Given the description of an element on the screen output the (x, y) to click on. 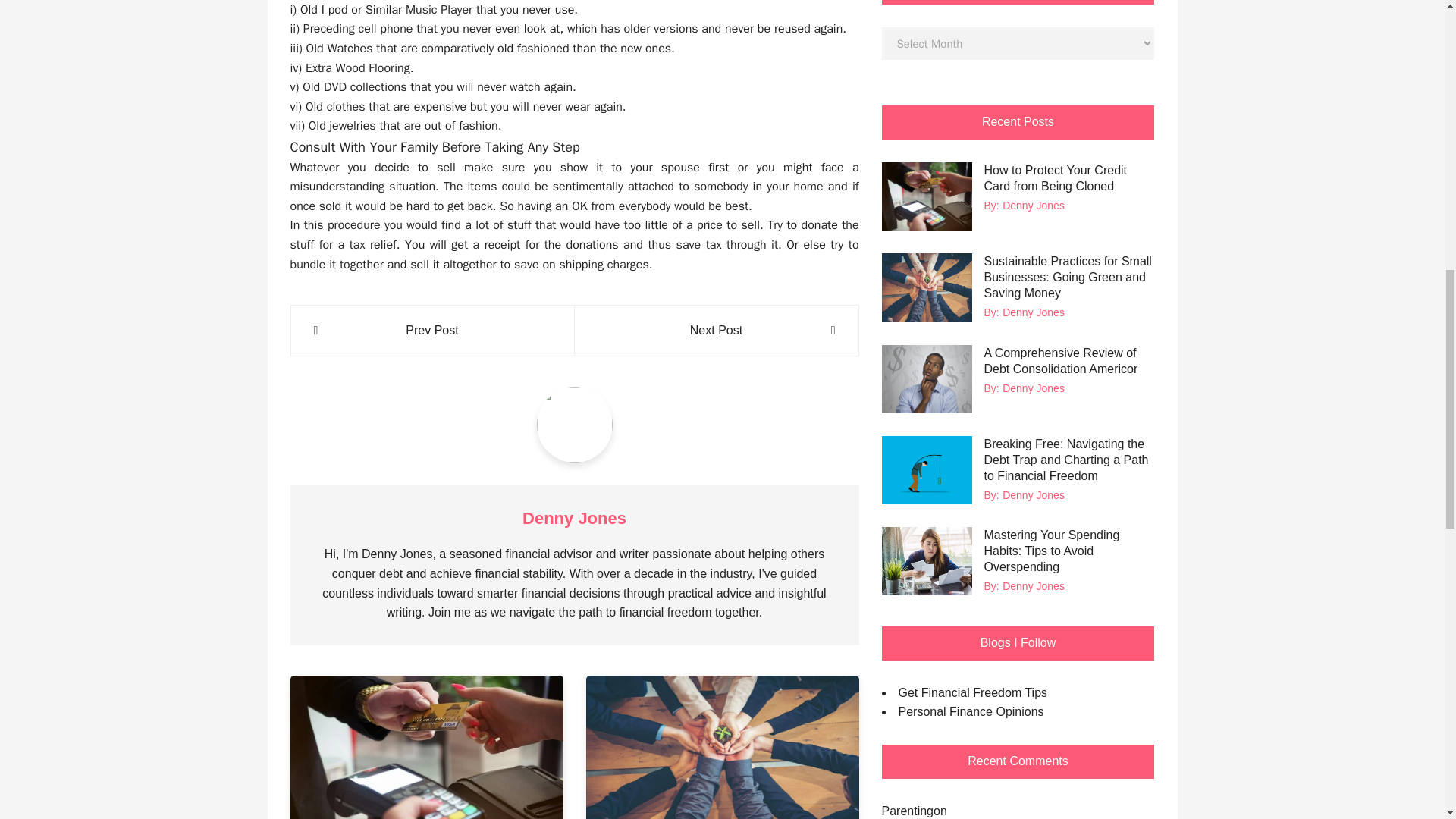
Next Post (715, 330)
Prev Post (432, 330)
